Given the description of an element on the screen output the (x, y) to click on. 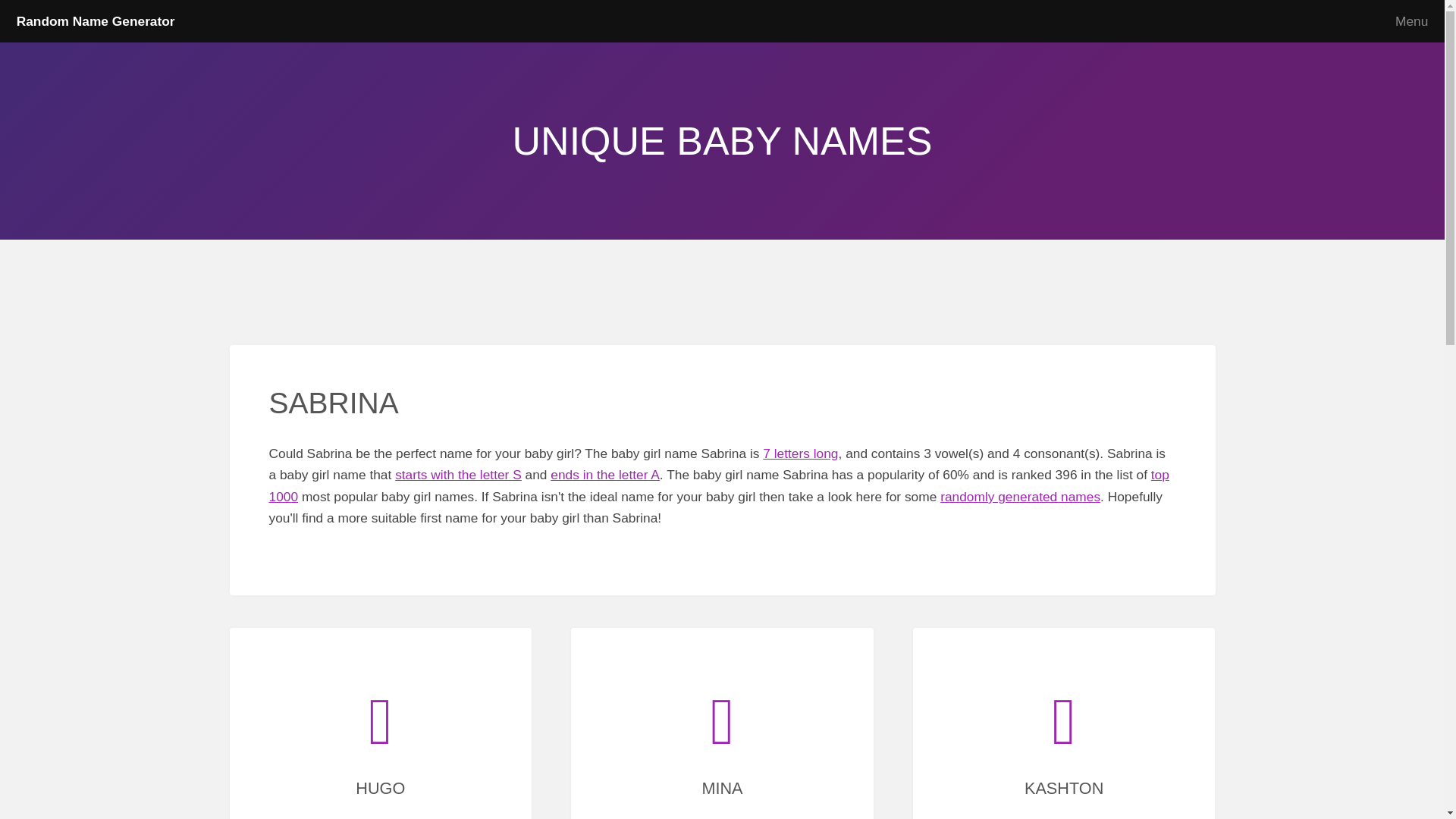
top 1000 (718, 485)
Random Name Generator (95, 21)
starts with the letter S (457, 474)
ends in the letter A (604, 474)
7 letters long (800, 453)
randomly generated names (1020, 496)
